Given the description of an element on the screen output the (x, y) to click on. 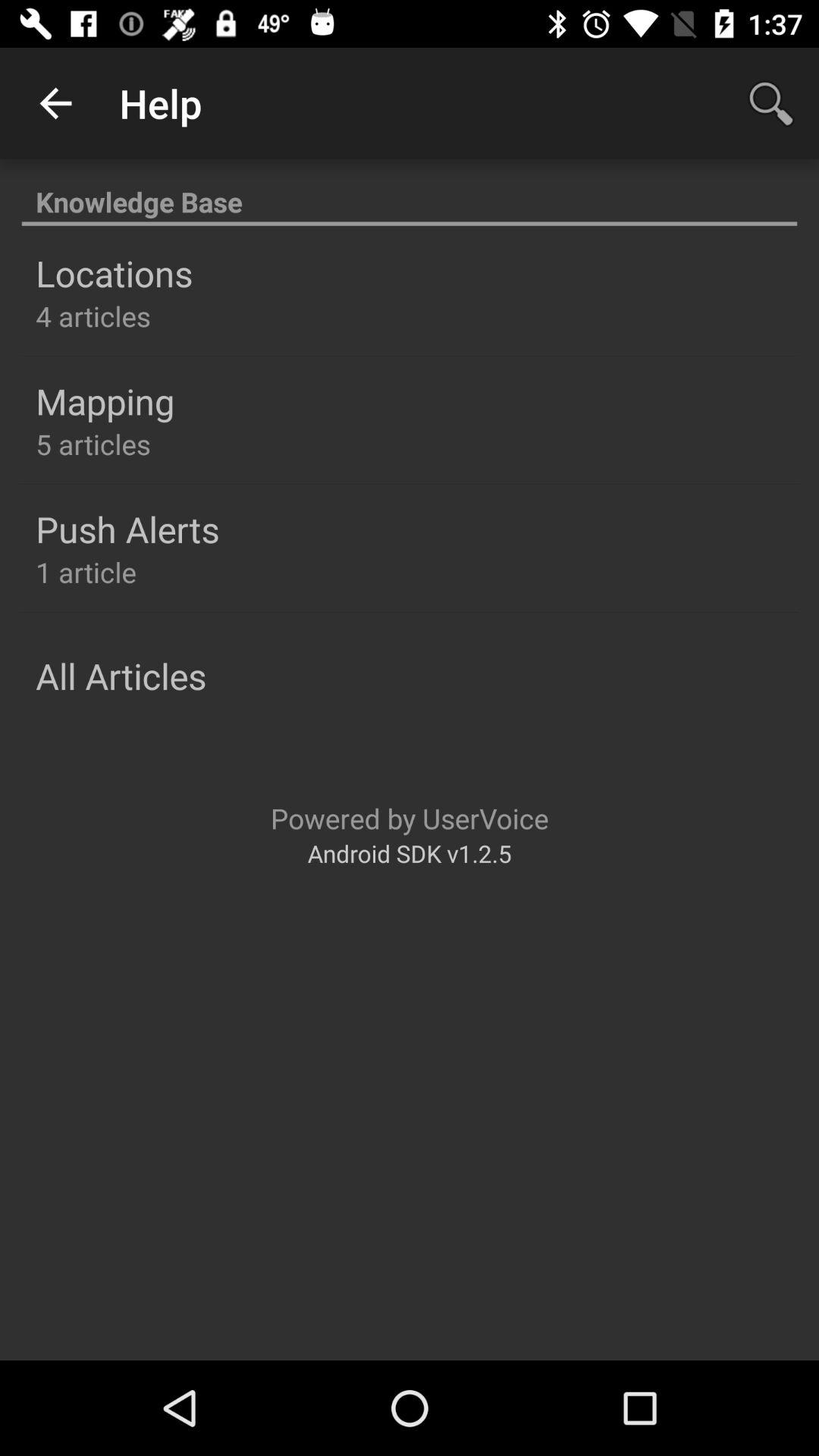
select the icon above 4 articles (113, 273)
